Given the description of an element on the screen output the (x, y) to click on. 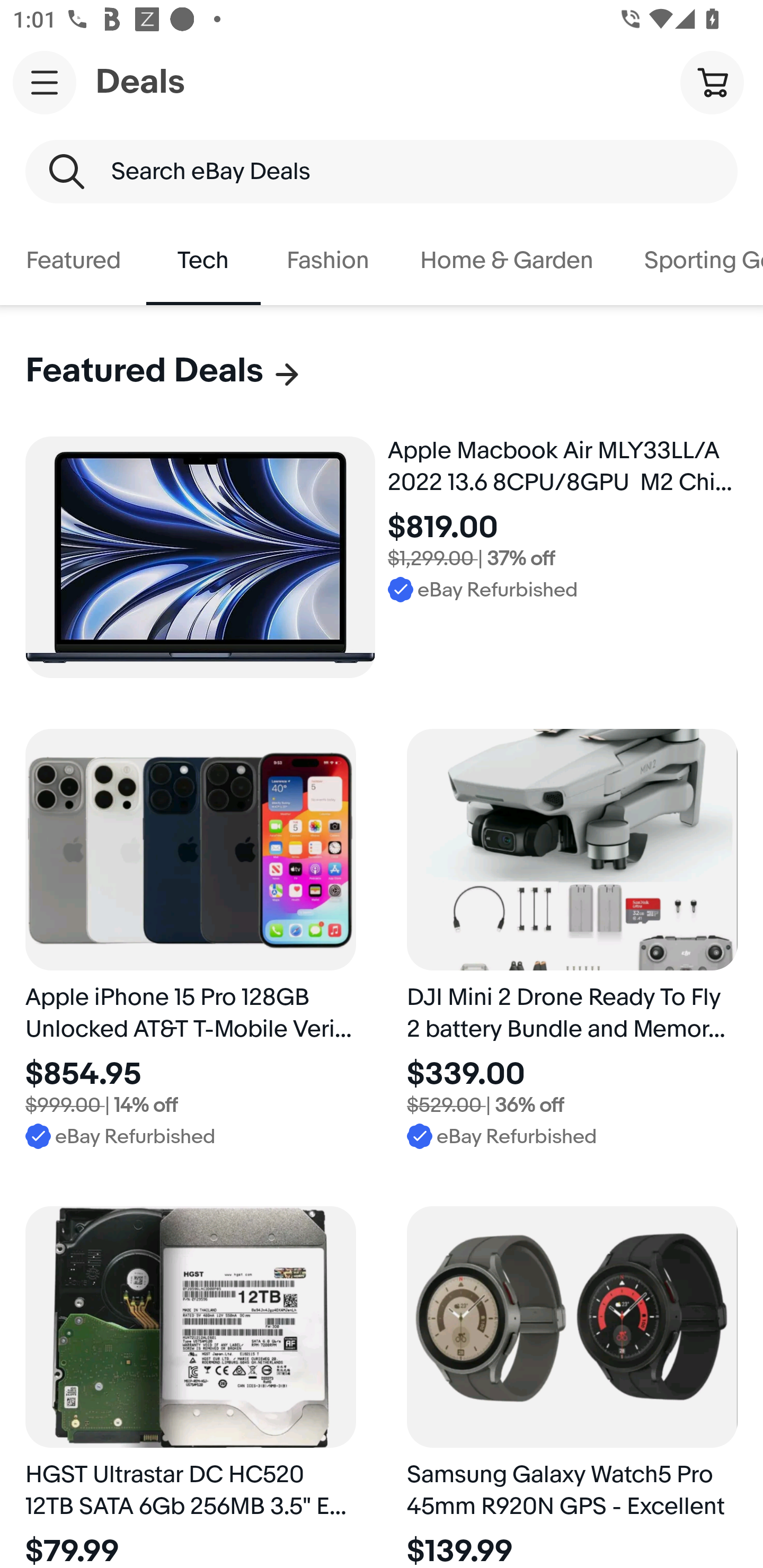
Main navigation, open (44, 82)
Cart button shopping cart (711, 81)
Search eBay Deals Search Keyword Search eBay Deals (381, 171)
Featured. Button. 1 of 7. Featured (73, 260)
Fashion. Button. 3 of 7. Fashion (327, 260)
Home & Garden. Button. 4 of 7. Home & Garden (506, 260)
Sporting Goods. Button. 5 of 7. Sporting Goods (690, 260)
Featured Deals   Featured Deals,7 items (163, 370)
